Given the description of an element on the screen output the (x, y) to click on. 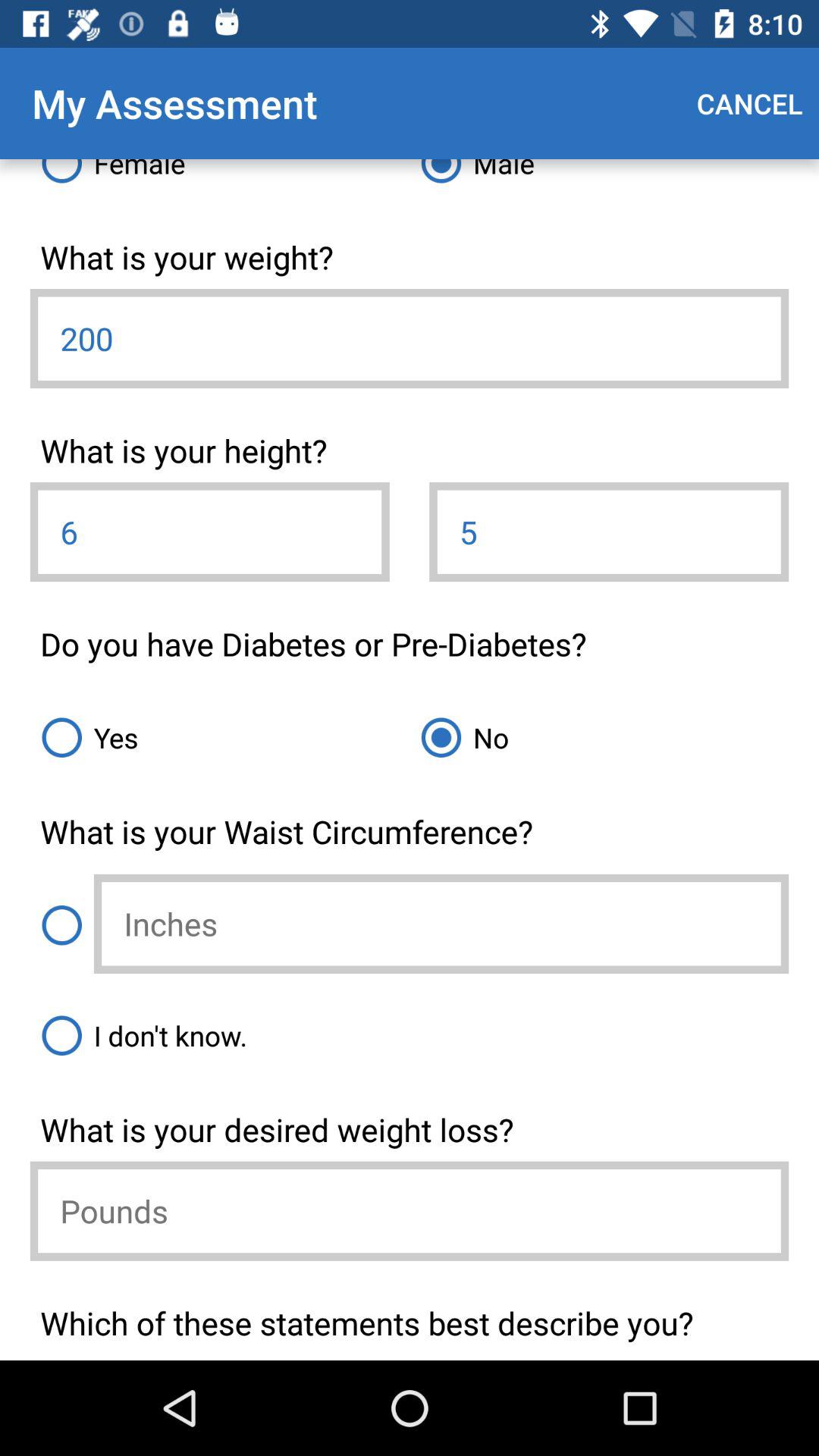
launch the i don t (409, 1035)
